Given the description of an element on the screen output the (x, y) to click on. 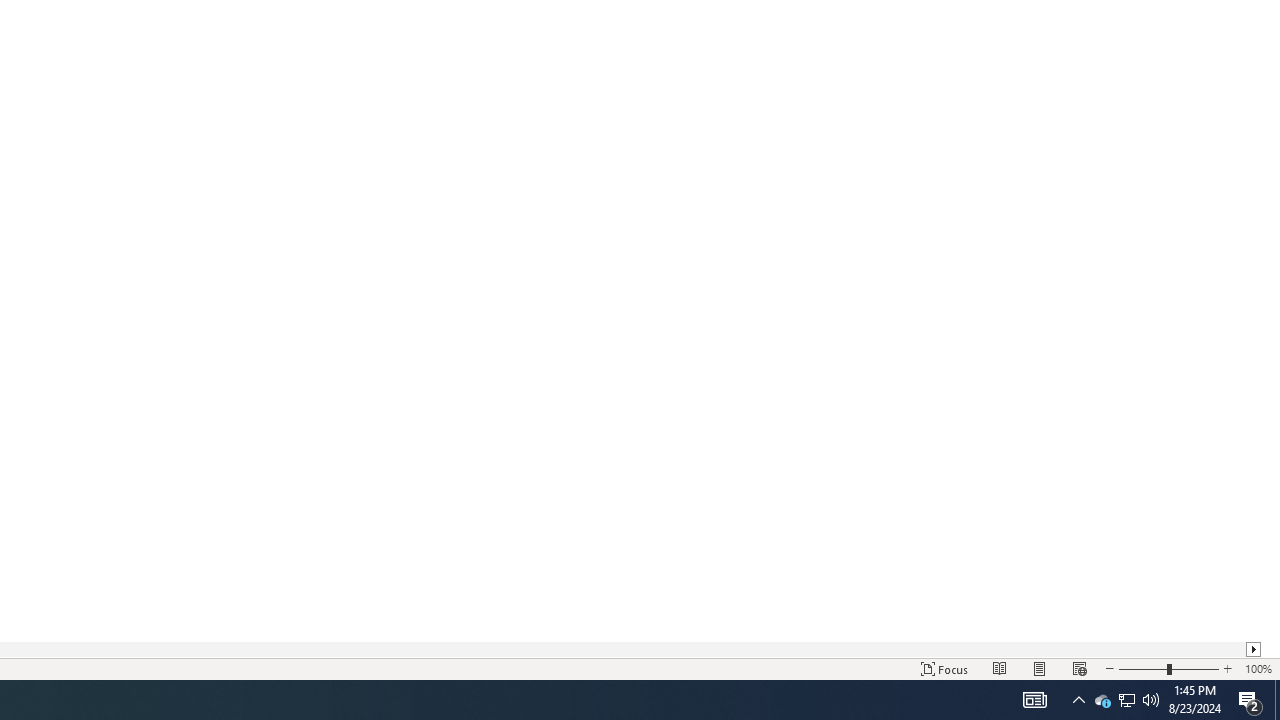
Zoom 100% (1258, 668)
Column right (1254, 649)
